Given the description of an element on the screen output the (x, y) to click on. 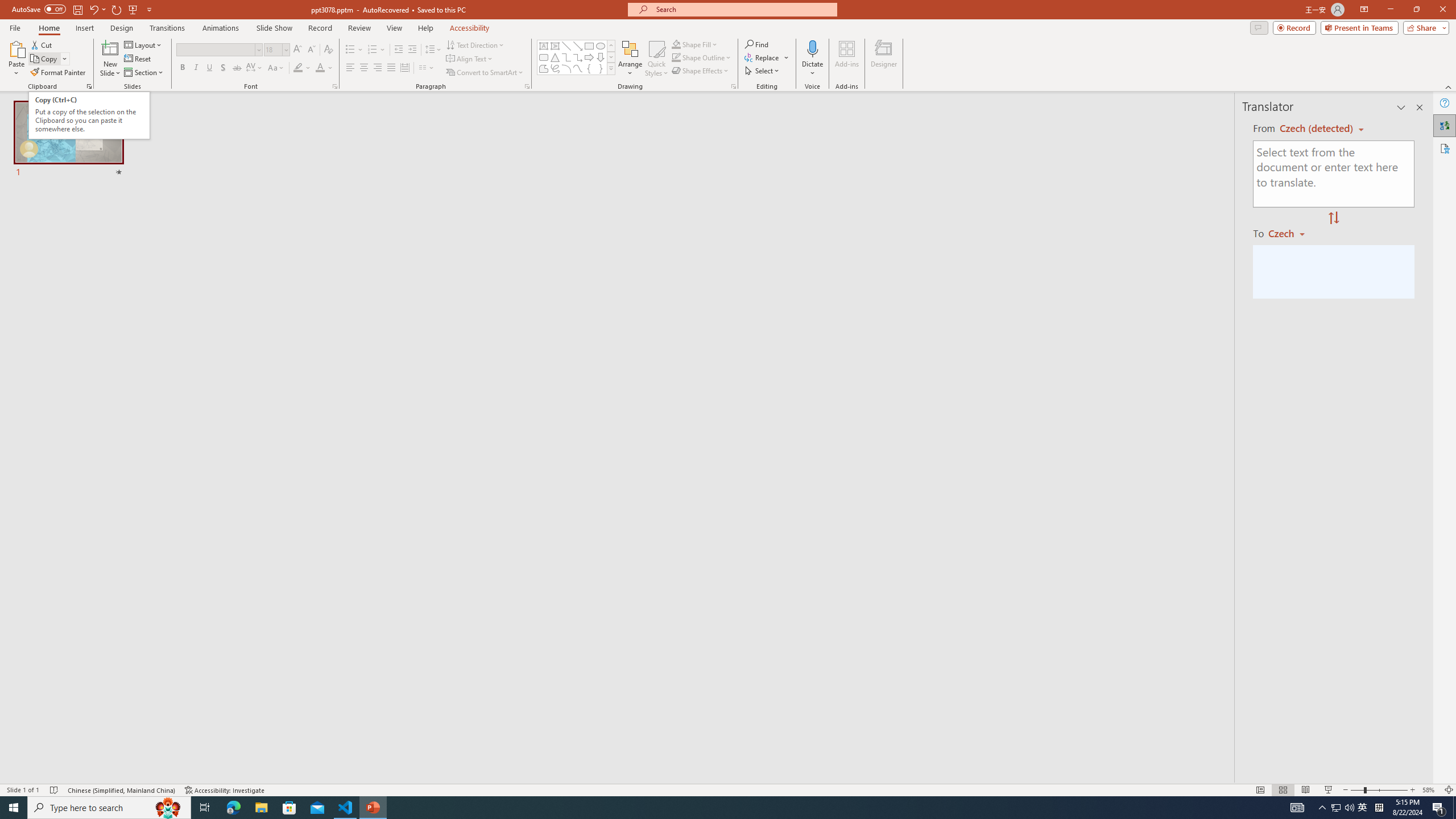
Office Clipboard... (88, 85)
Comments (1259, 27)
Format Painter (58, 72)
Zoom In (1412, 790)
Quick Access Toolbar (82, 9)
Font Color Red (320, 67)
Connector: Elbow Arrow (577, 57)
Designer (883, 58)
Accessibility Checker Accessibility: Investigate (224, 790)
Slide Sorter (1282, 790)
Freeform: Shape (543, 68)
